Given the description of an element on the screen output the (x, y) to click on. 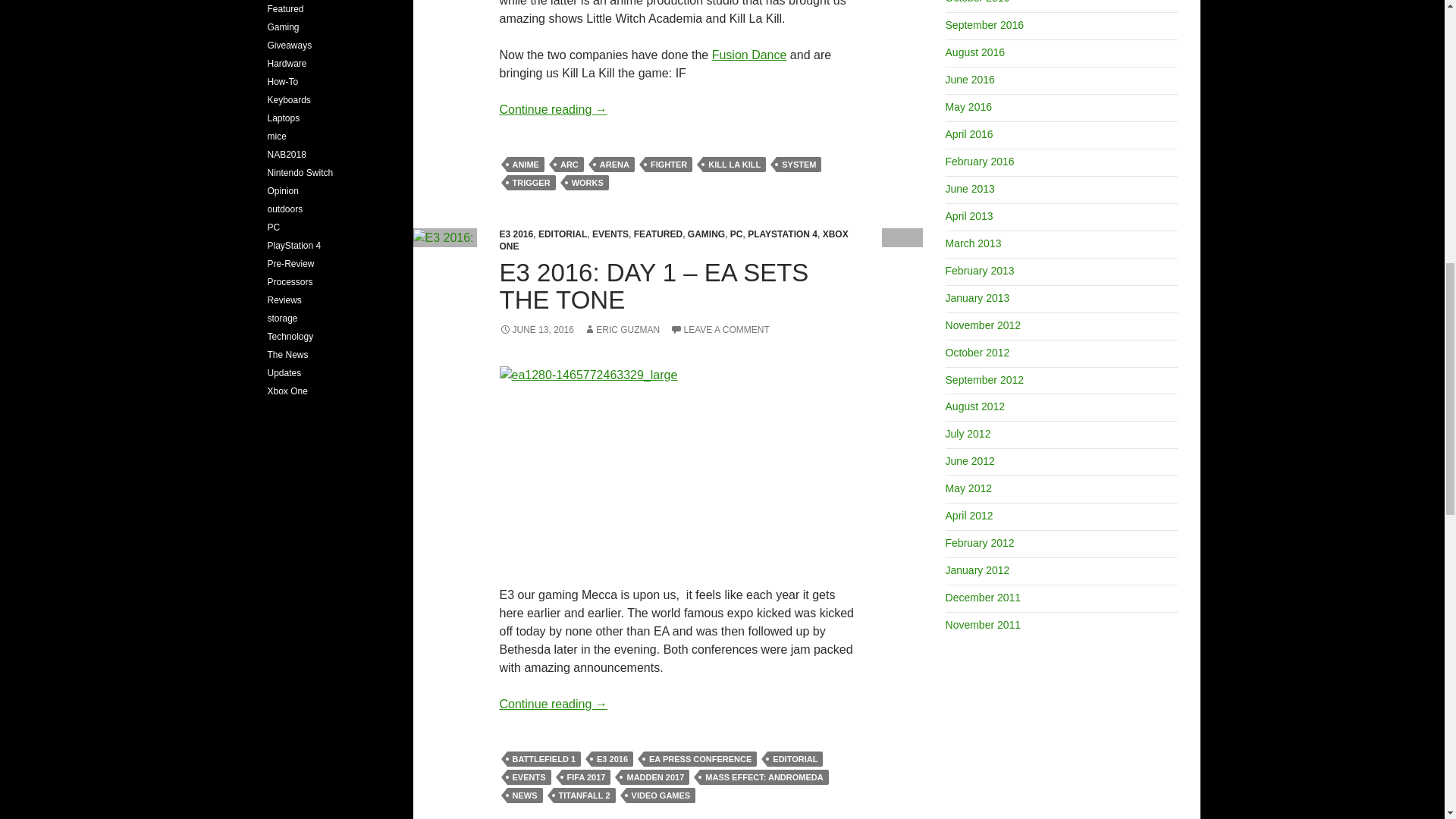
PLAYSTATION 4 (782, 234)
ANIME (524, 164)
SYSTEM (798, 164)
KILL LA KILL (734, 164)
XBOX ONE (673, 240)
ARENA (614, 164)
EDITORIAL (562, 234)
E3 2016 (515, 234)
FEATURED (657, 234)
ARC (568, 164)
